Given the description of an element on the screen output the (x, y) to click on. 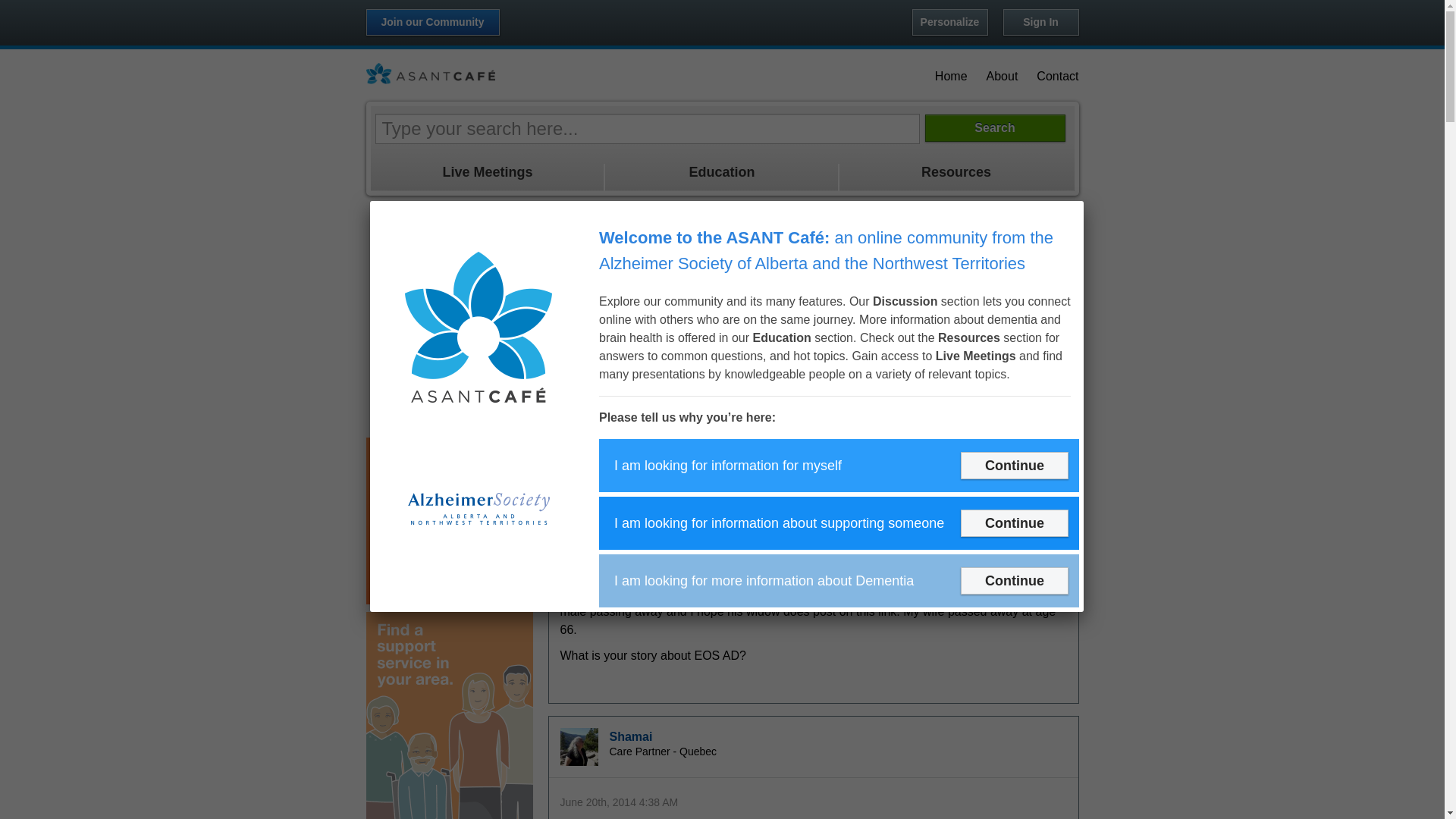
Continue Element type: text (1014, 580)
Shamai Element type: text (630, 736)
  Element type: text (547, 563)
rdeancowan Element type: text (644, 370)
  Element type: text (547, 197)
Shamai Element type: hover (578, 746)
Home Element type: text (951, 75)
Education Element type: text (722, 171)
Live Meetings Element type: text (487, 171)
signed in Element type: text (899, 300)
Join our Community Element type: text (431, 22)
Continue Element type: text (1014, 522)
Personalize Element type: text (949, 22)
Discussions Element type: text (579, 251)
rdeancowan Element type: hover (578, 381)
Early Onset Alzheimer's Disease Element type: text (943, 251)
About Element type: text (1002, 75)
Sign In Element type: text (1040, 22)
Resources Element type: text (955, 171)
Continue Element type: text (1014, 465)
Contact Element type: text (1057, 75)
Alzheimer Society Canada Element type: hover (429, 73)
  Element type: text (547, 812)
Search Element type: text (995, 127)
